Given the description of an element on the screen output the (x, y) to click on. 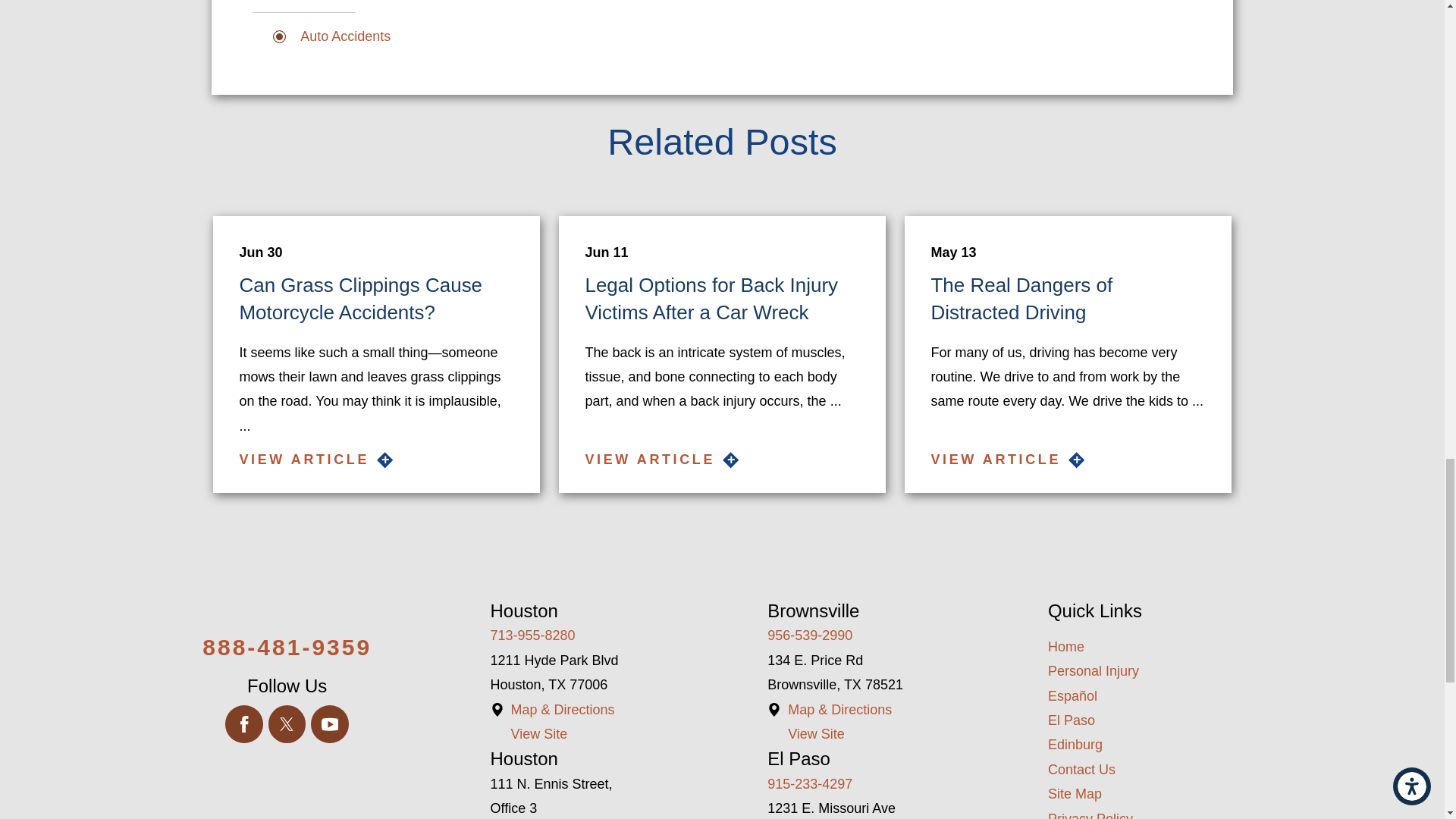
Facebook (244, 723)
